Given the description of an element on the screen output the (x, y) to click on. 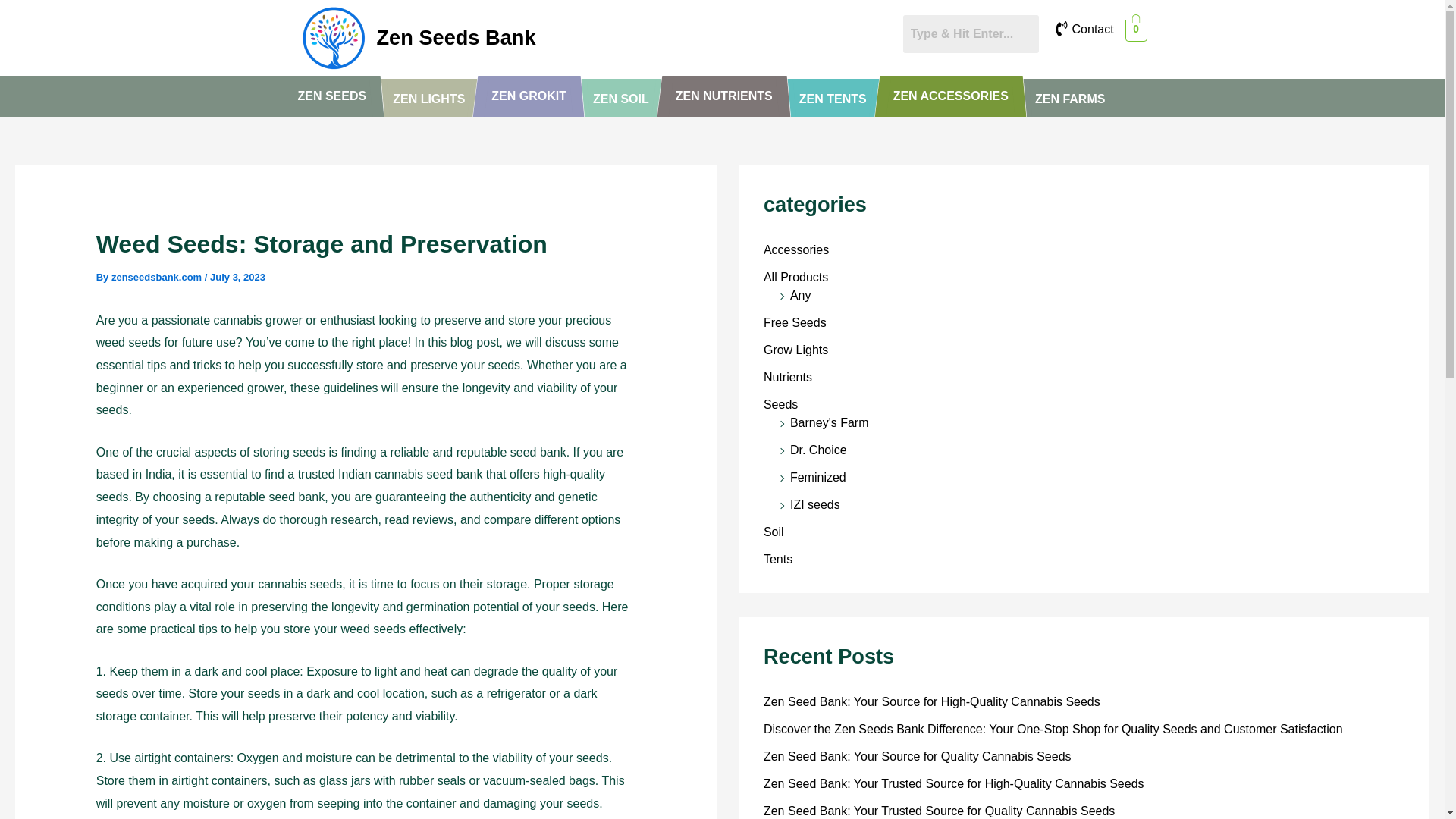
ZEN TENTS (833, 98)
ZEN NUTRIENTS (724, 96)
Search (970, 34)
ZEN GROKIT (528, 96)
Zen Seeds Bank (455, 37)
View your shopping cart (1136, 29)
0 (1136, 29)
ZEN SOIL (620, 98)
Contact (1092, 29)
View all posts by zenseedsbank.com (158, 276)
ZEN SEEDS (331, 96)
ZEN LIGHTS (428, 98)
